Given the description of an element on the screen output the (x, y) to click on. 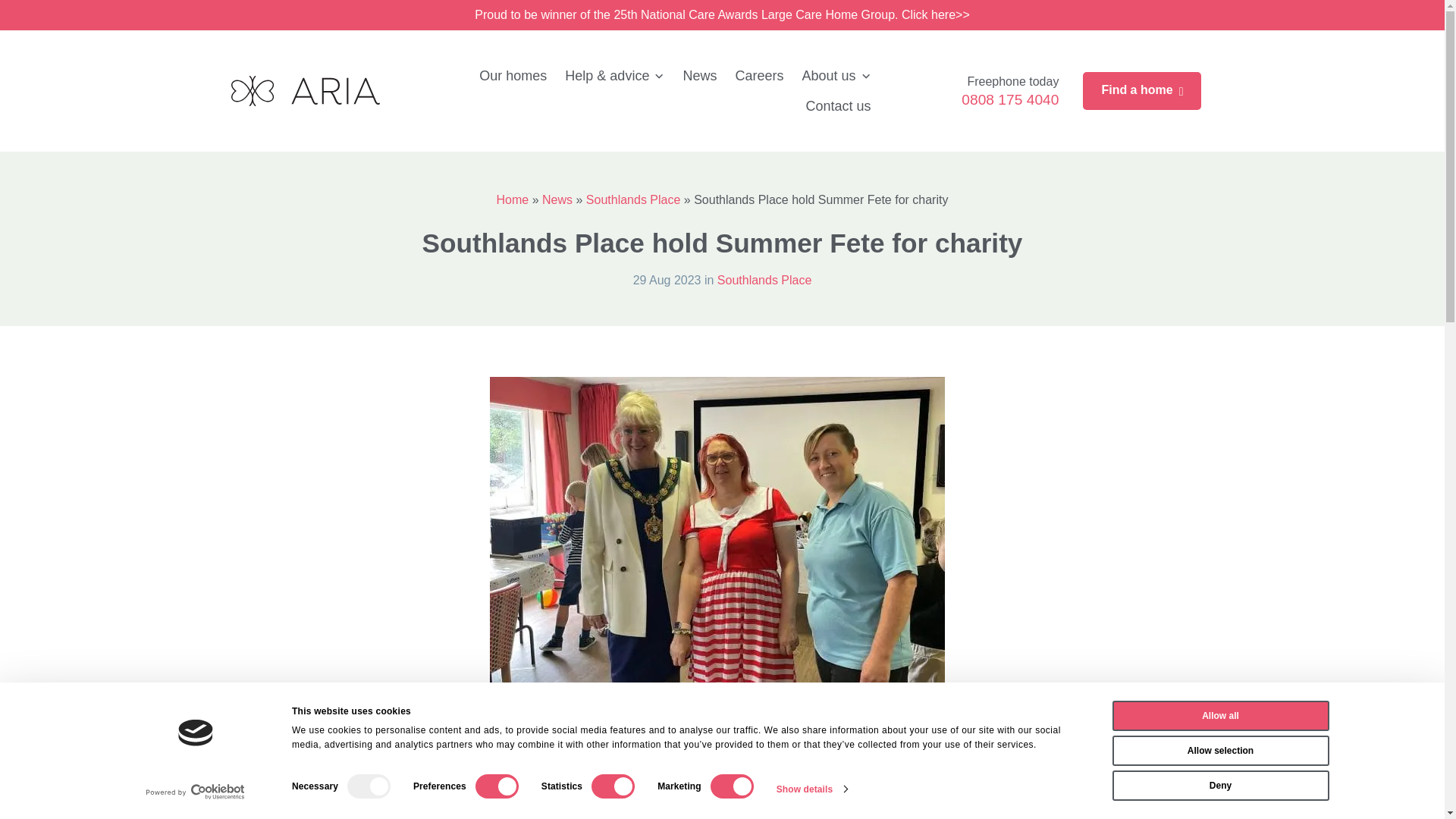
Aria Care (304, 91)
Show details (811, 789)
Find a home (1142, 90)
